Given the description of an element on the screen output the (x, y) to click on. 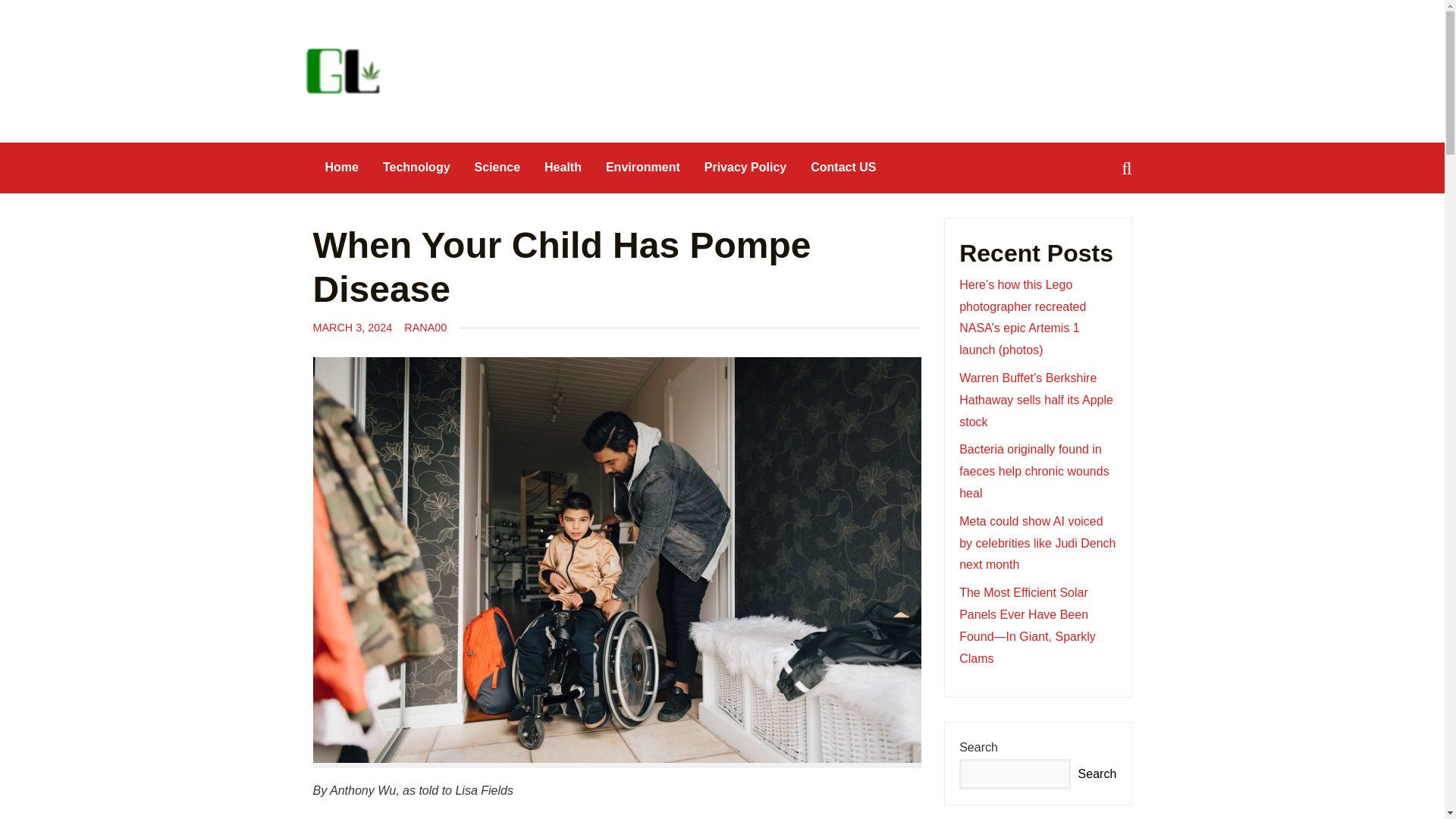
Search (39, 13)
Environment (643, 167)
Privacy Policy (746, 167)
Technology (417, 167)
Health (563, 167)
Contact US (842, 167)
Science (497, 167)
RANA00 (425, 327)
Home (341, 167)
